Given the description of an element on the screen output the (x, y) to click on. 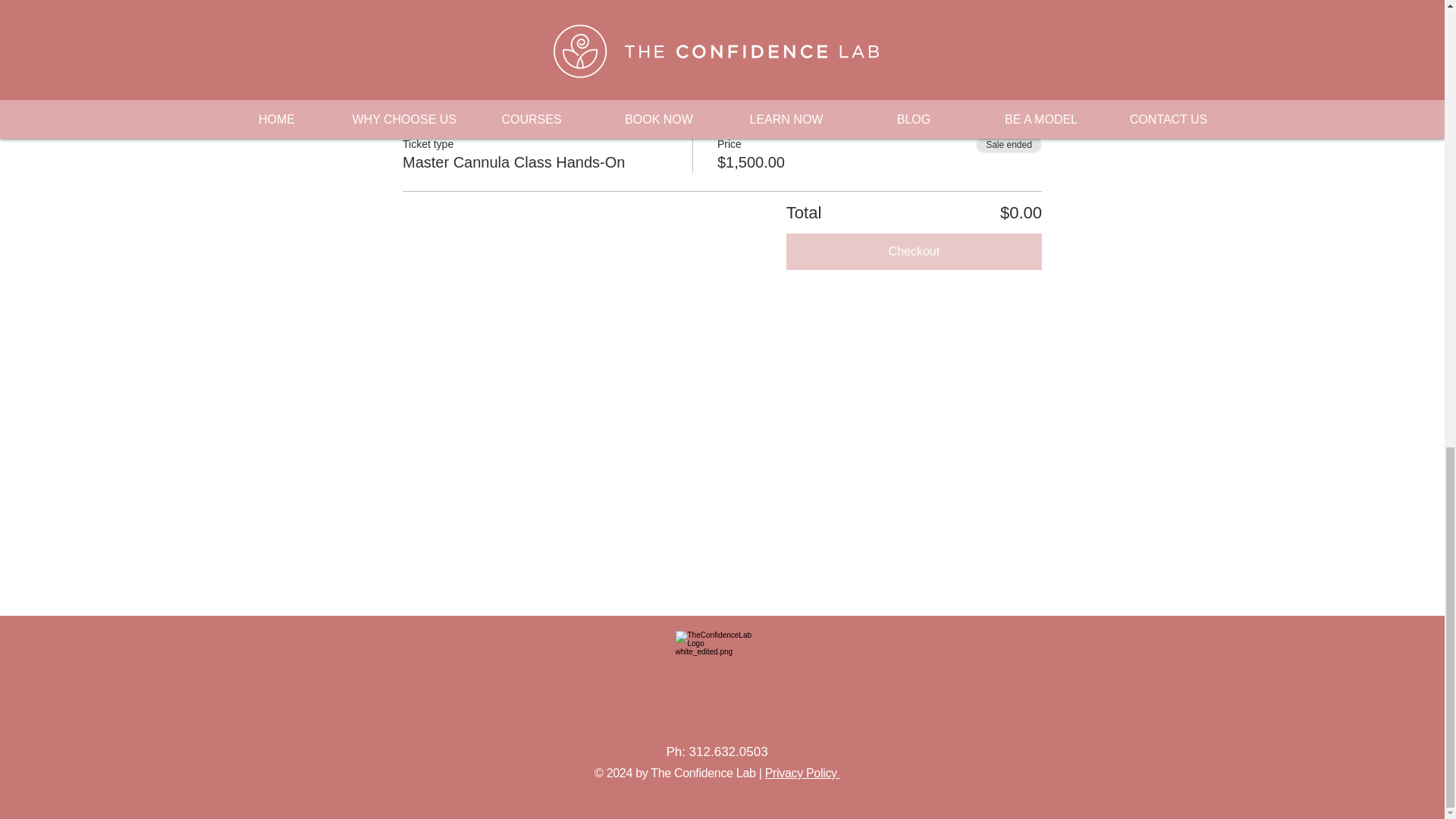
Privacy Policy  (802, 772)
Ph: 312.632.0503 (716, 752)
Checkout (914, 251)
